Given the description of an element on the screen output the (x, y) to click on. 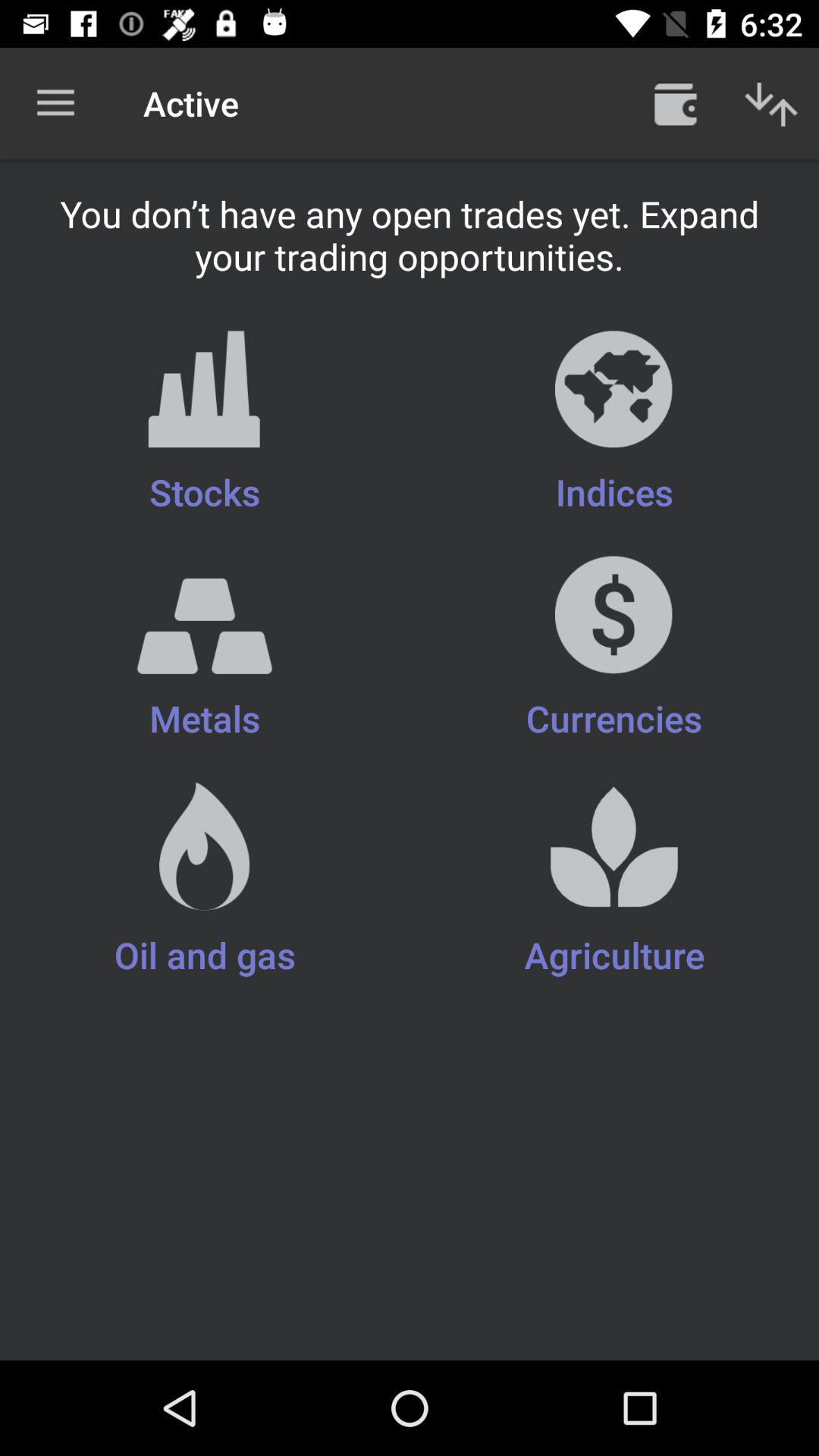
tap the item below the stocks icon (204, 660)
